Given the description of an element on the screen output the (x, y) to click on. 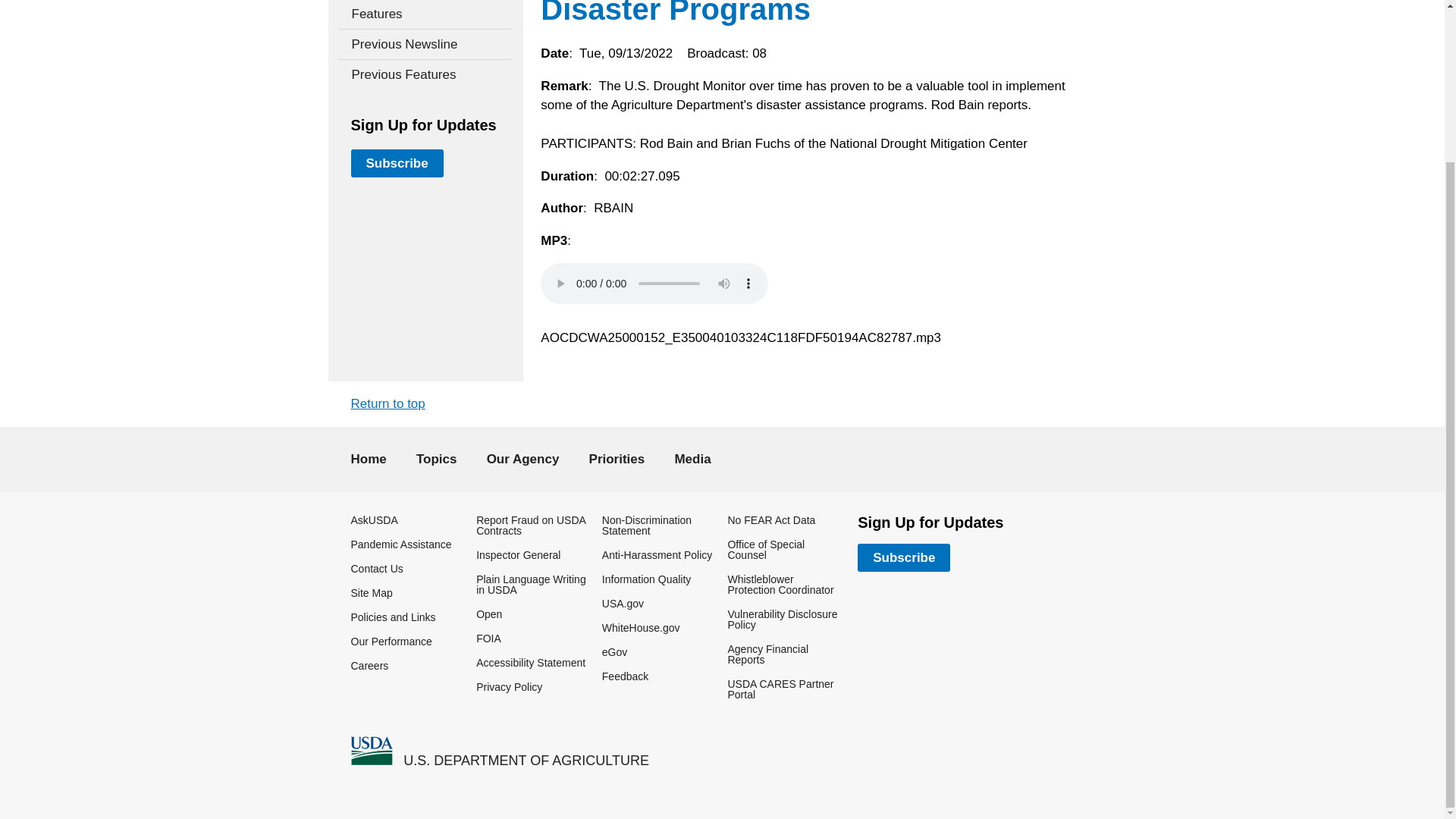
Home (370, 751)
Home (526, 759)
